Given the description of an element on the screen output the (x, y) to click on. 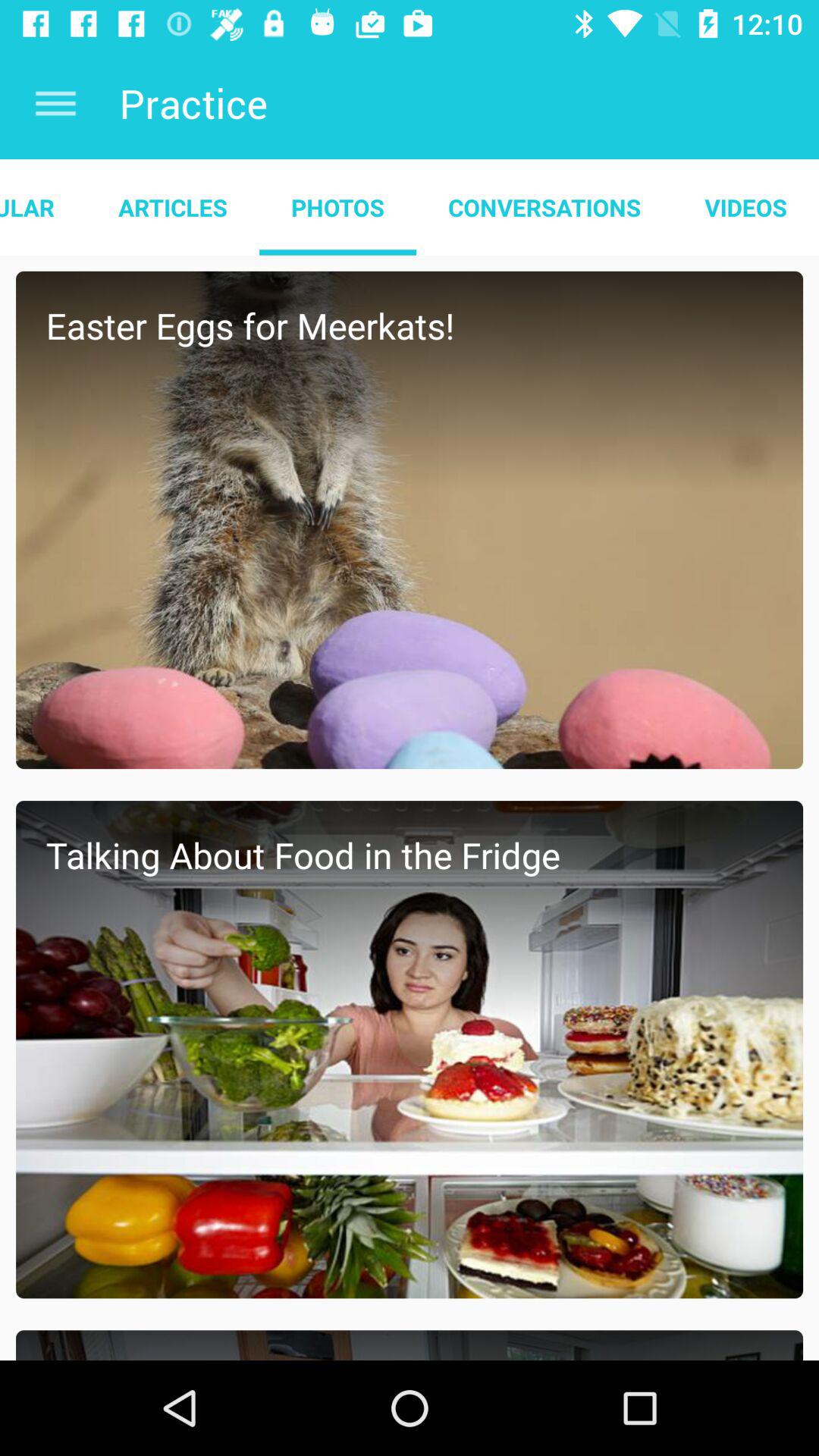
choose item above the popular app (55, 103)
